Given the description of an element on the screen output the (x, y) to click on. 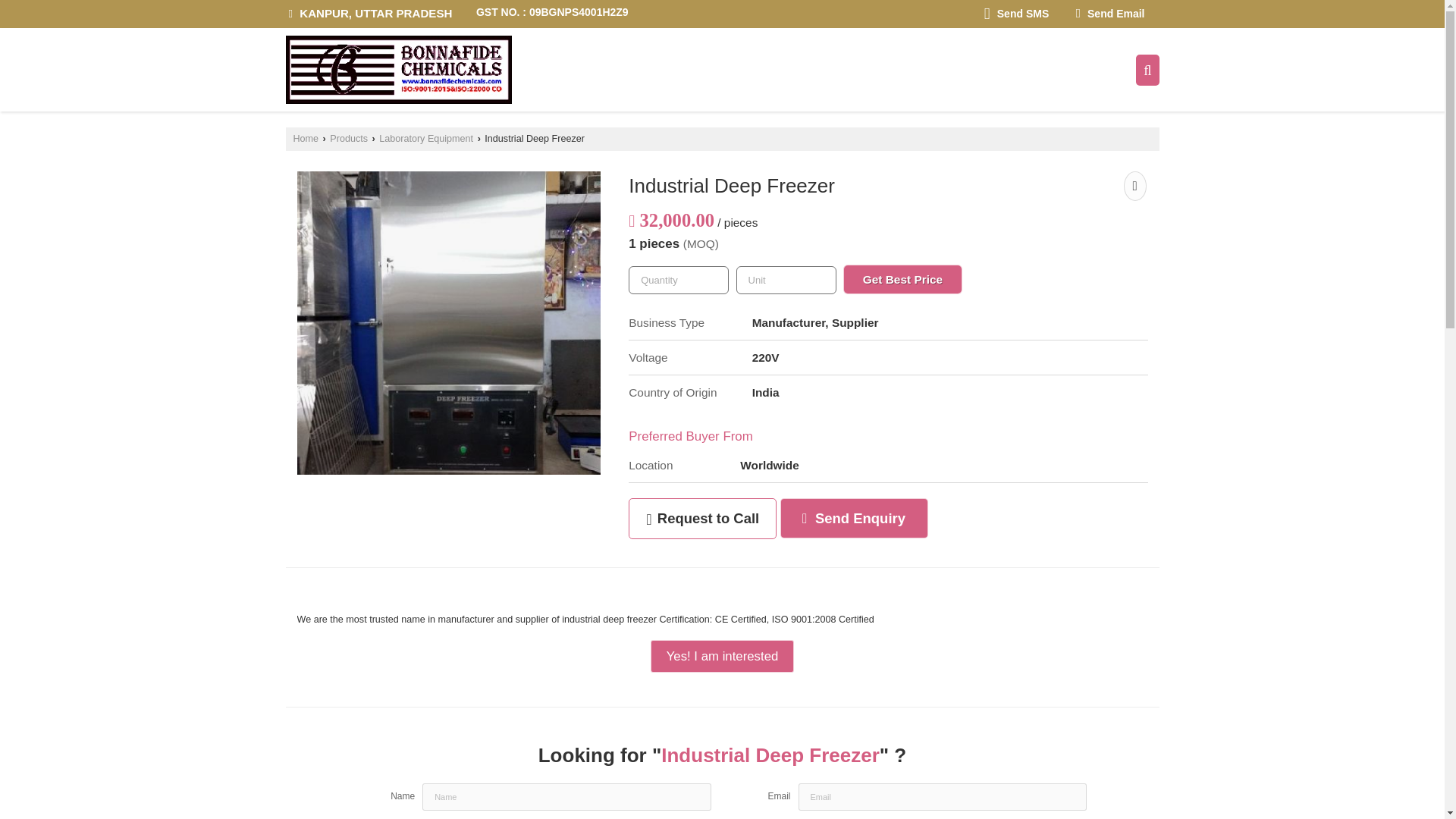
Send Email (1110, 14)
Bonnafide Chemicals (398, 70)
Send SMS (1015, 14)
